Given the description of an element on the screen output the (x, y) to click on. 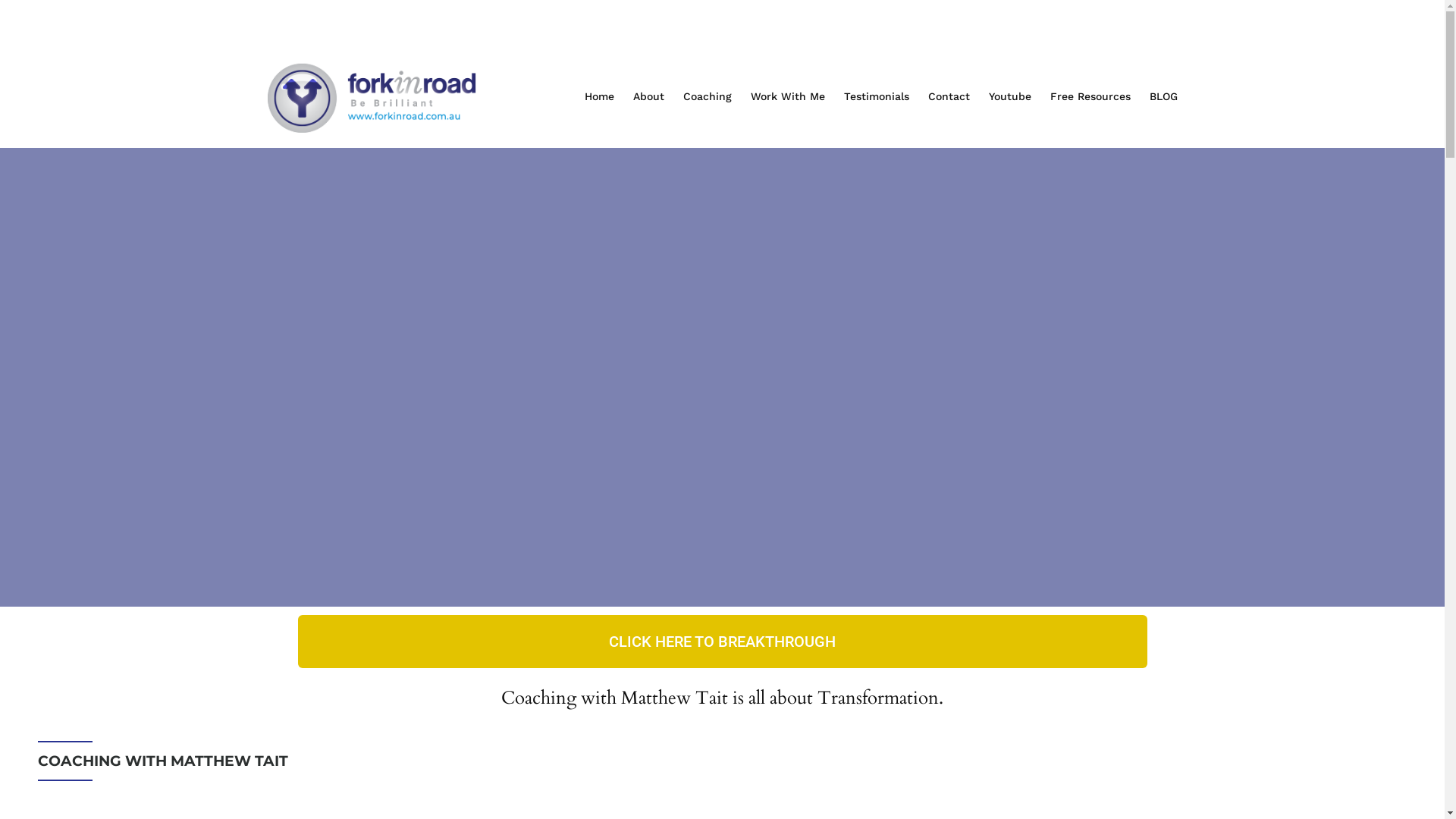
Coaching Element type: text (714, 96)
CLICK HERE TO BREAKTHROUGH Element type: text (721, 641)
Home Element type: text (605, 96)
Free Resources Element type: text (1097, 96)
Testimonials Element type: text (883, 96)
Work With Me Element type: text (795, 96)
About Element type: text (655, 96)
Youtube Element type: text (1017, 96)
Contact Element type: text (956, 96)
BLOG Element type: text (1163, 96)
